Given the description of an element on the screen output the (x, y) to click on. 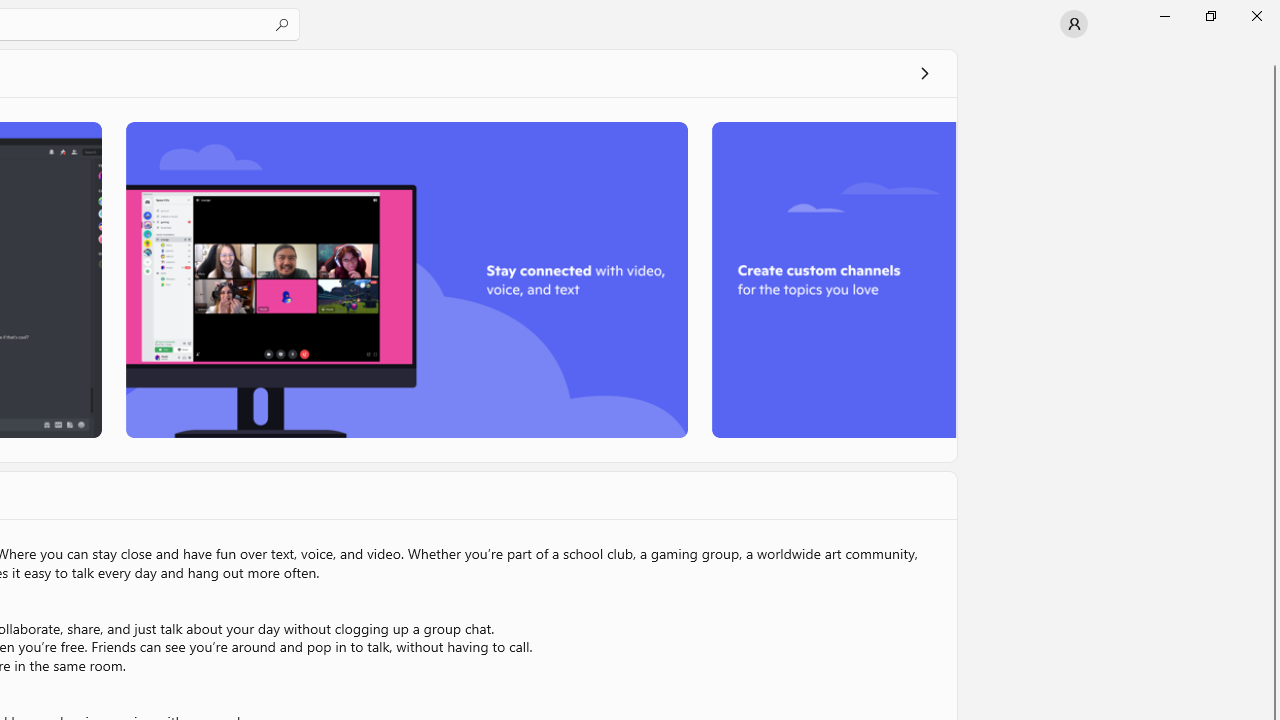
Close Microsoft Store (1256, 15)
Minimize Microsoft Store (1164, 15)
Screenshot 2 (406, 279)
Screenshot 3 (833, 279)
Restore Microsoft Store (1210, 15)
User profile (1073, 24)
See all (924, 72)
